Given the description of an element on the screen output the (x, y) to click on. 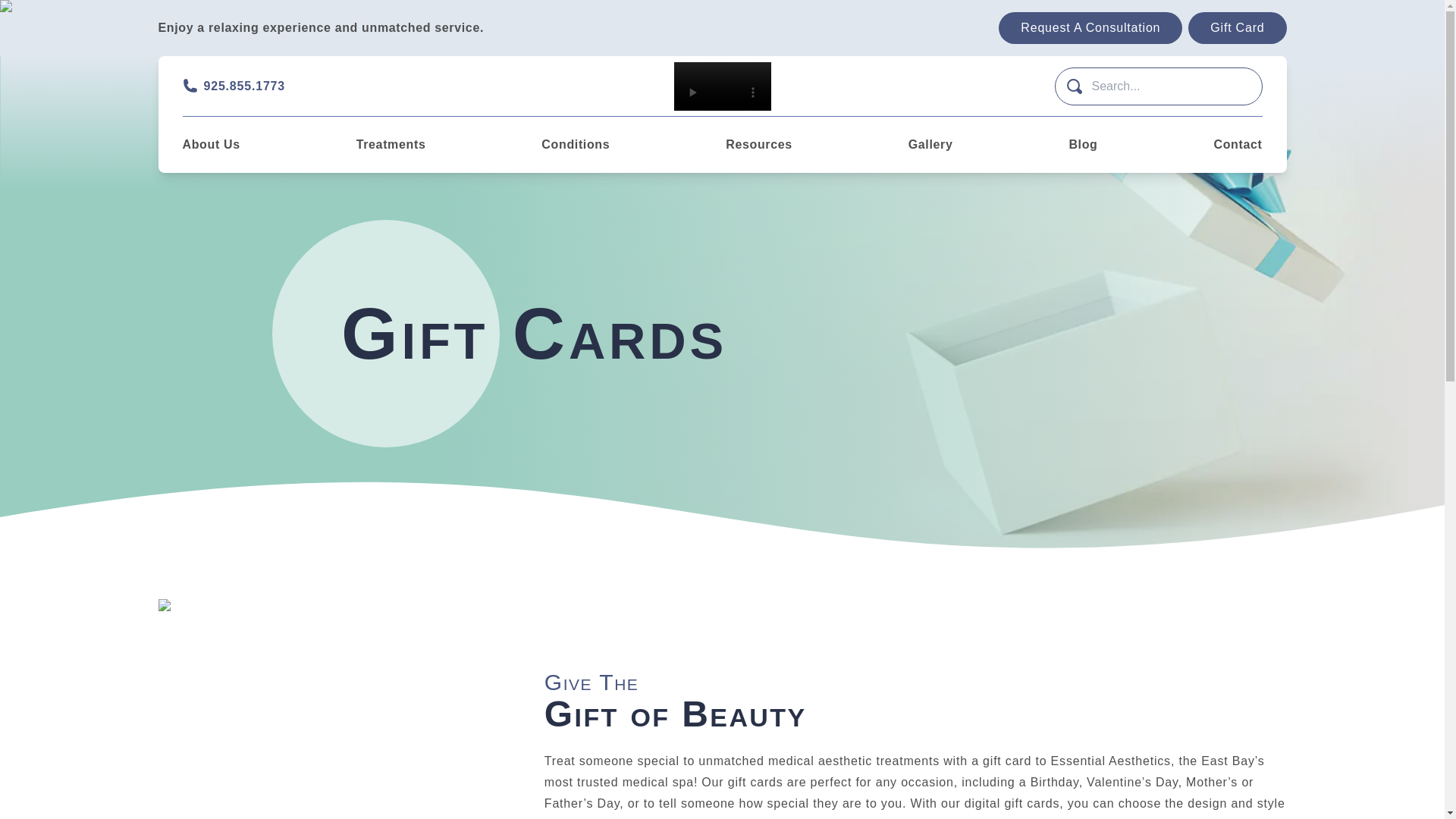
Resources (758, 144)
Conditions (575, 144)
Blog (1082, 144)
Gift Card (1236, 28)
Treatments (391, 144)
About Us (211, 144)
Contact (1237, 144)
Request A Consultation (1090, 28)
Gallery (930, 144)
